Given the description of an element on the screen output the (x, y) to click on. 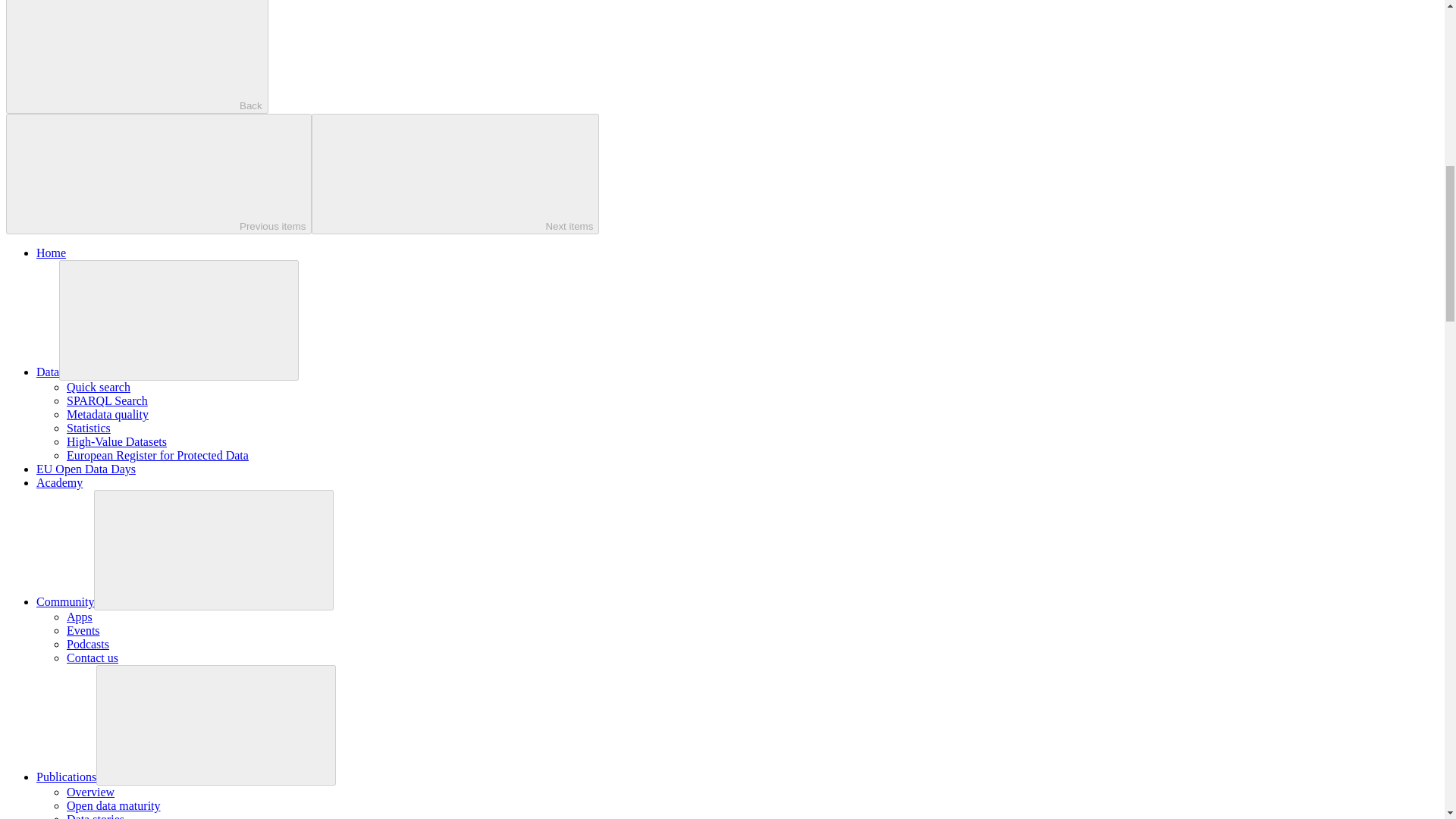
Events (83, 630)
Academy (59, 481)
Apps (79, 616)
Overview (90, 791)
Quick search (98, 386)
EU Open Data Days (85, 468)
Community (65, 601)
SPARQL Search (107, 400)
Open data maturity (113, 805)
Data (47, 371)
Back (136, 56)
Publications (66, 776)
European Register for Protected Data (157, 454)
Data stories (94, 816)
Home (50, 252)
